Given the description of an element on the screen output the (x, y) to click on. 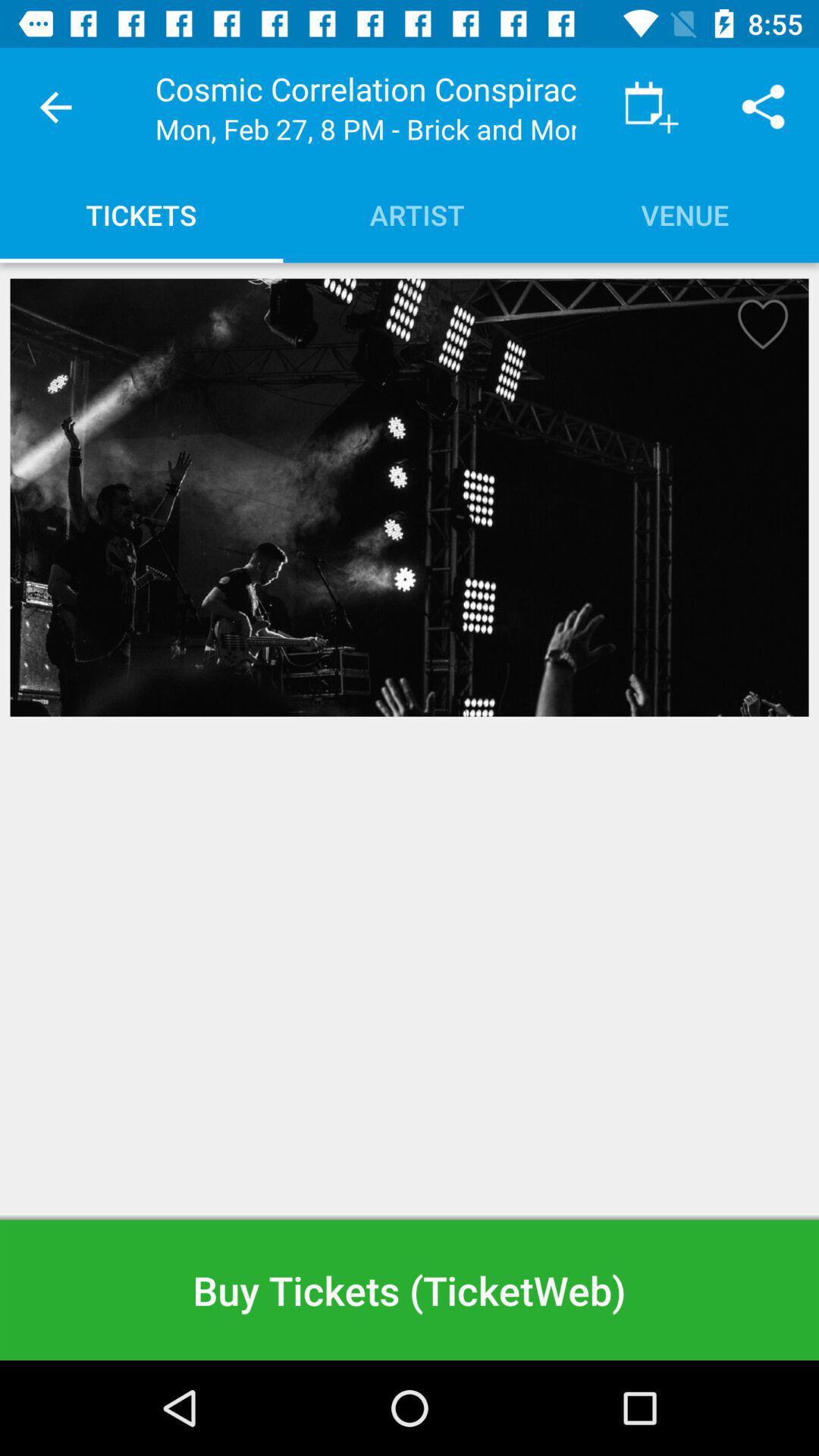
tap the item above venue (651, 107)
